Given the description of an element on the screen output the (x, y) to click on. 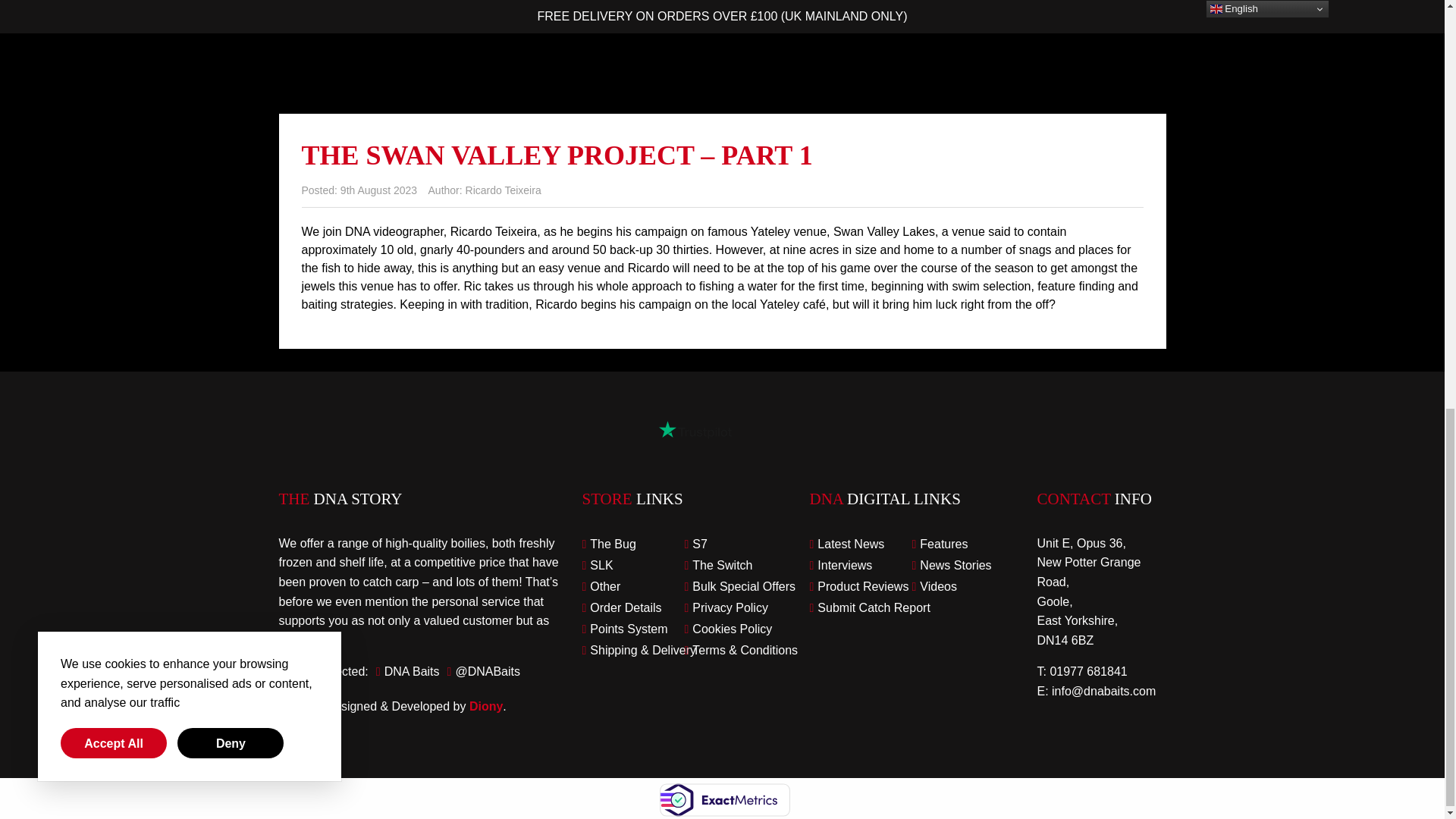
Customer reviews powered by Trustpilot (694, 429)
